Given the description of an element on the screen output the (x, y) to click on. 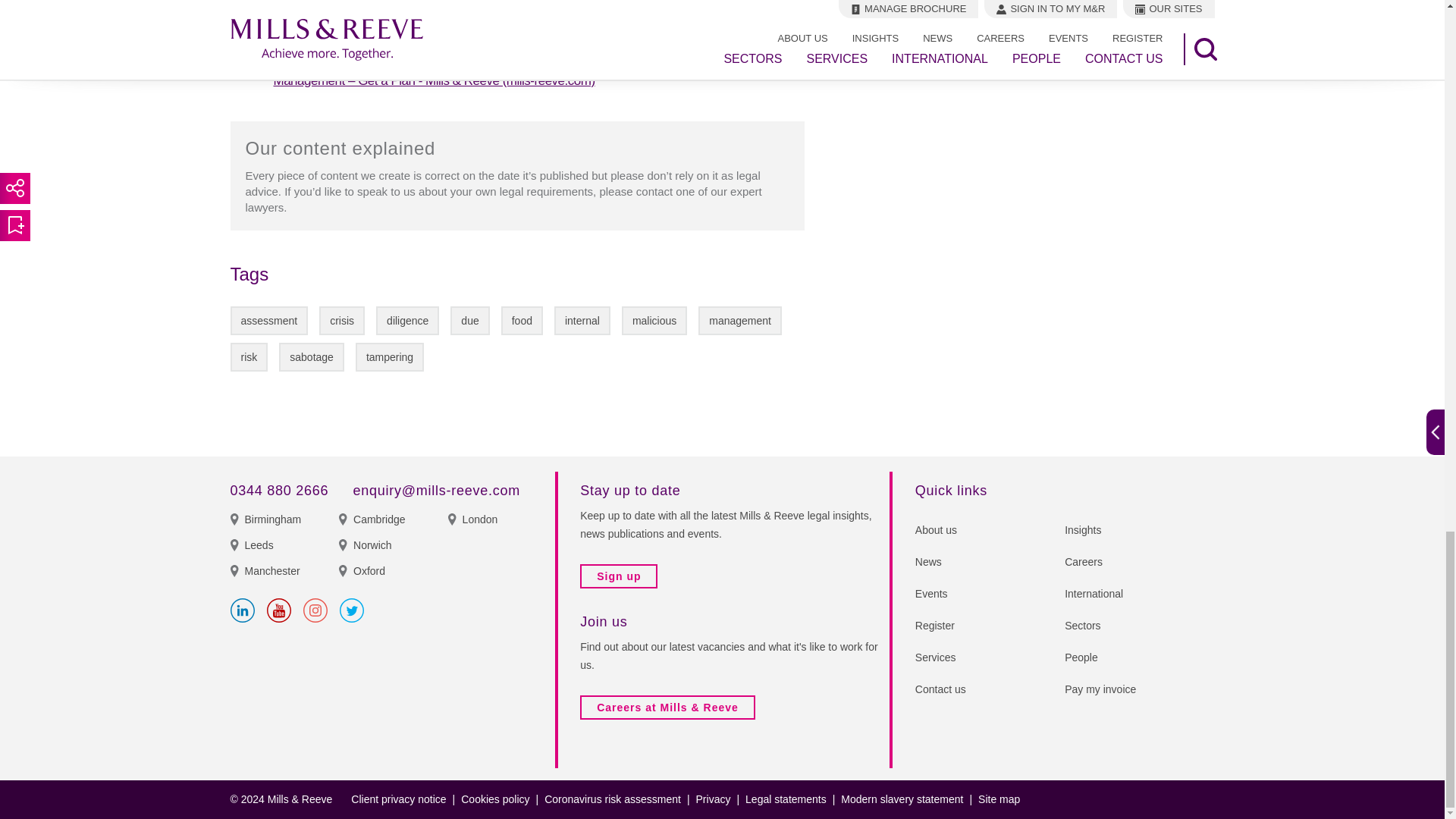
Twitter (351, 610)
Instagram (314, 610)
LinkedIn (242, 610)
YouTube (278, 610)
